Given the description of an element on the screen output the (x, y) to click on. 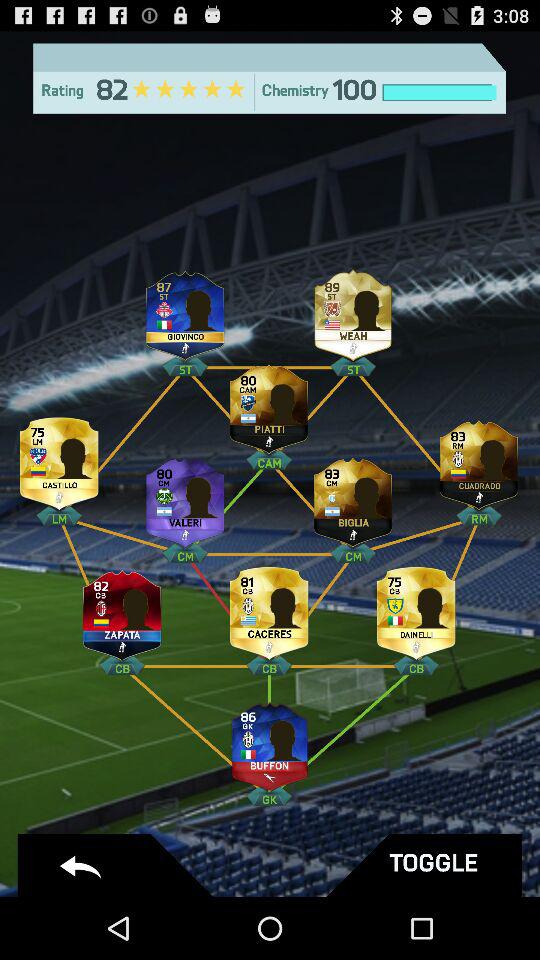
valeri (185, 497)
